Given the description of an element on the screen output the (x, y) to click on. 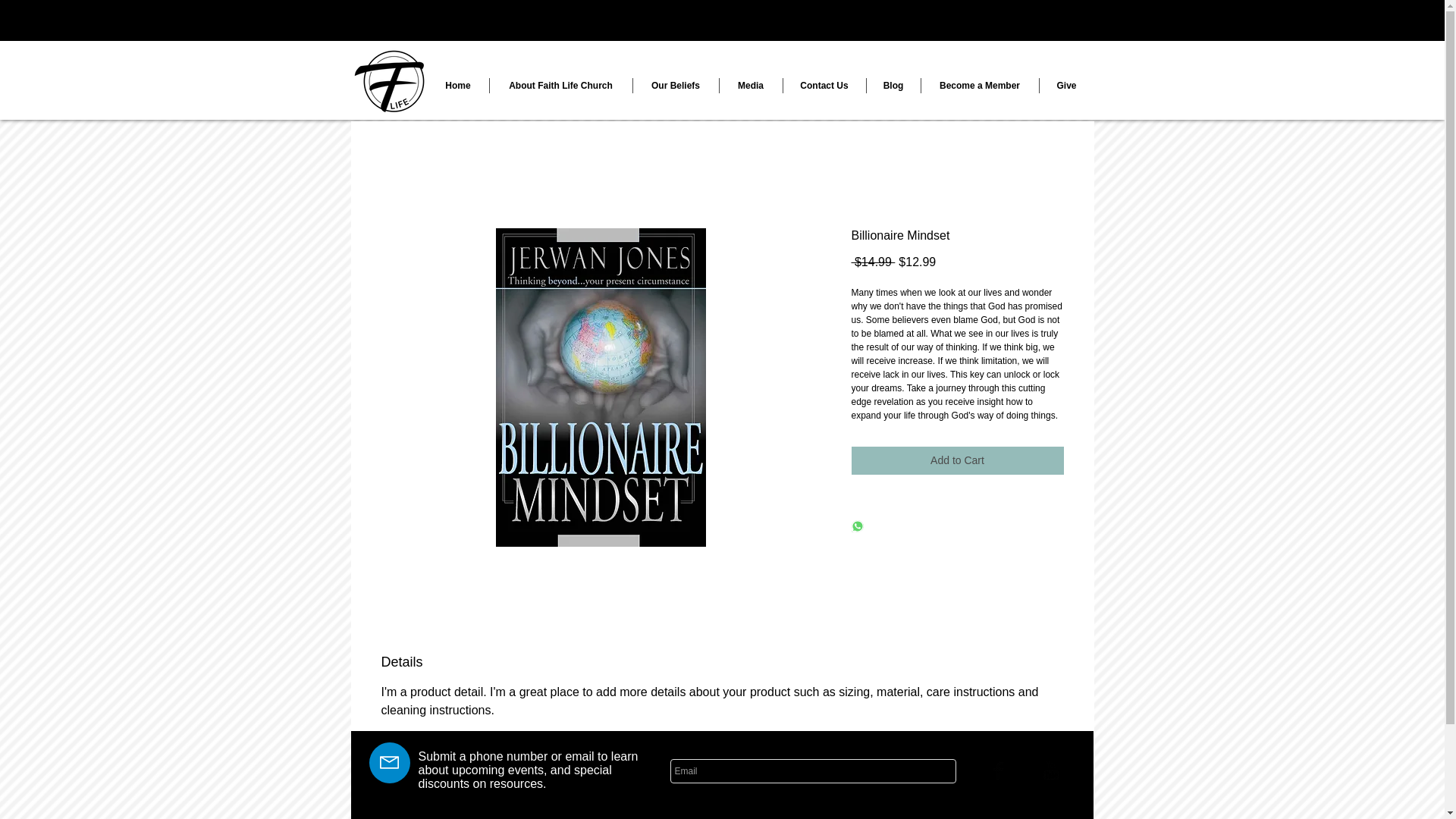
Give (1066, 85)
Our Beliefs (674, 85)
Blog (893, 85)
Contact Us (823, 85)
Home (458, 85)
About Faith Life Church (560, 85)
Become a Member (979, 85)
Media (750, 85)
Add to Cart (956, 460)
